Given the description of an element on the screen output the (x, y) to click on. 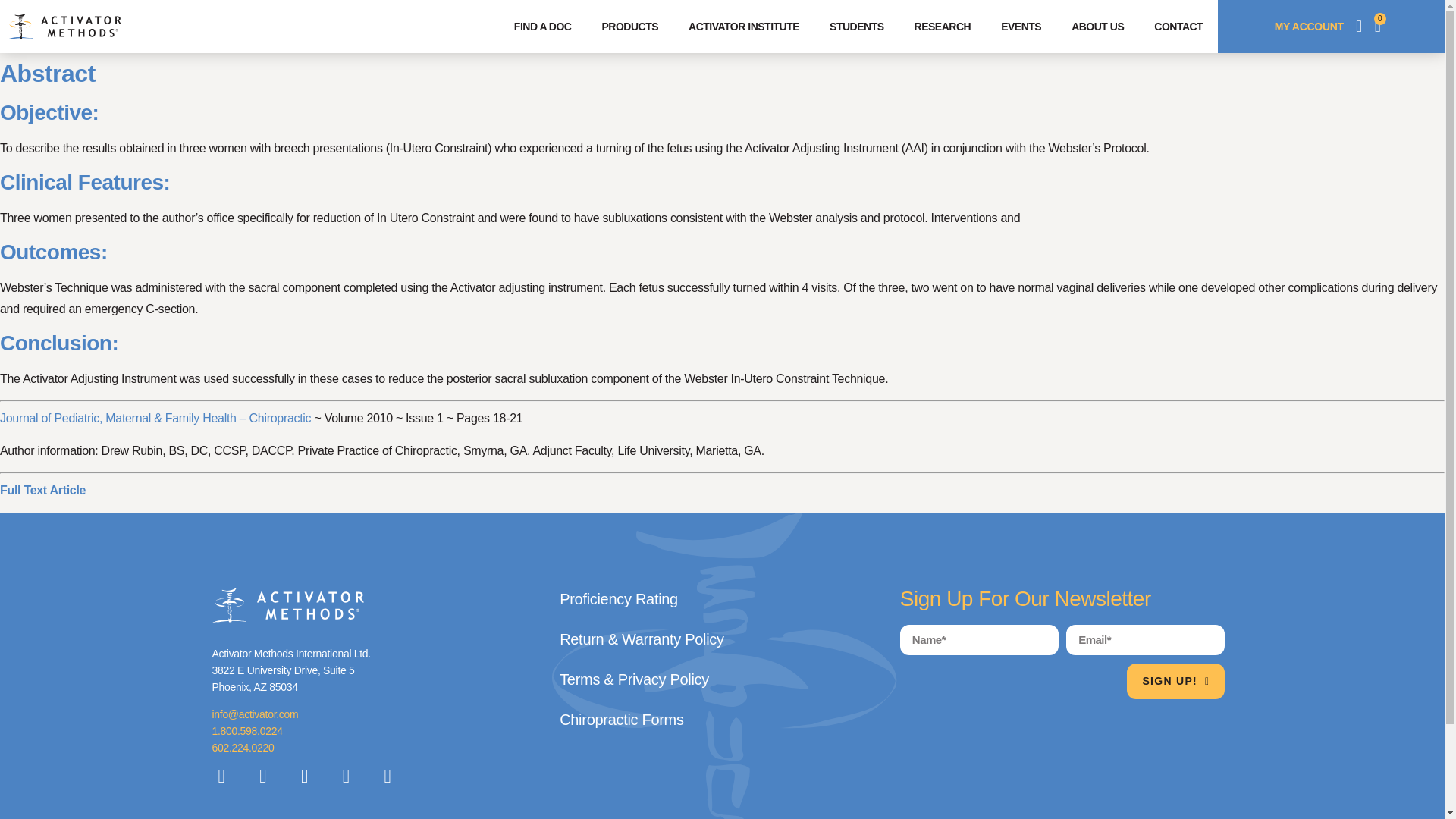
STUDENTS (855, 26)
CONTACT (1177, 26)
PRODUCTS (629, 26)
EVENTS (1021, 26)
RESEARCH (943, 26)
ABOUT US (1097, 26)
ACTIVATOR INSTITUTE (742, 26)
FIND A DOC (542, 26)
